Given the description of an element on the screen output the (x, y) to click on. 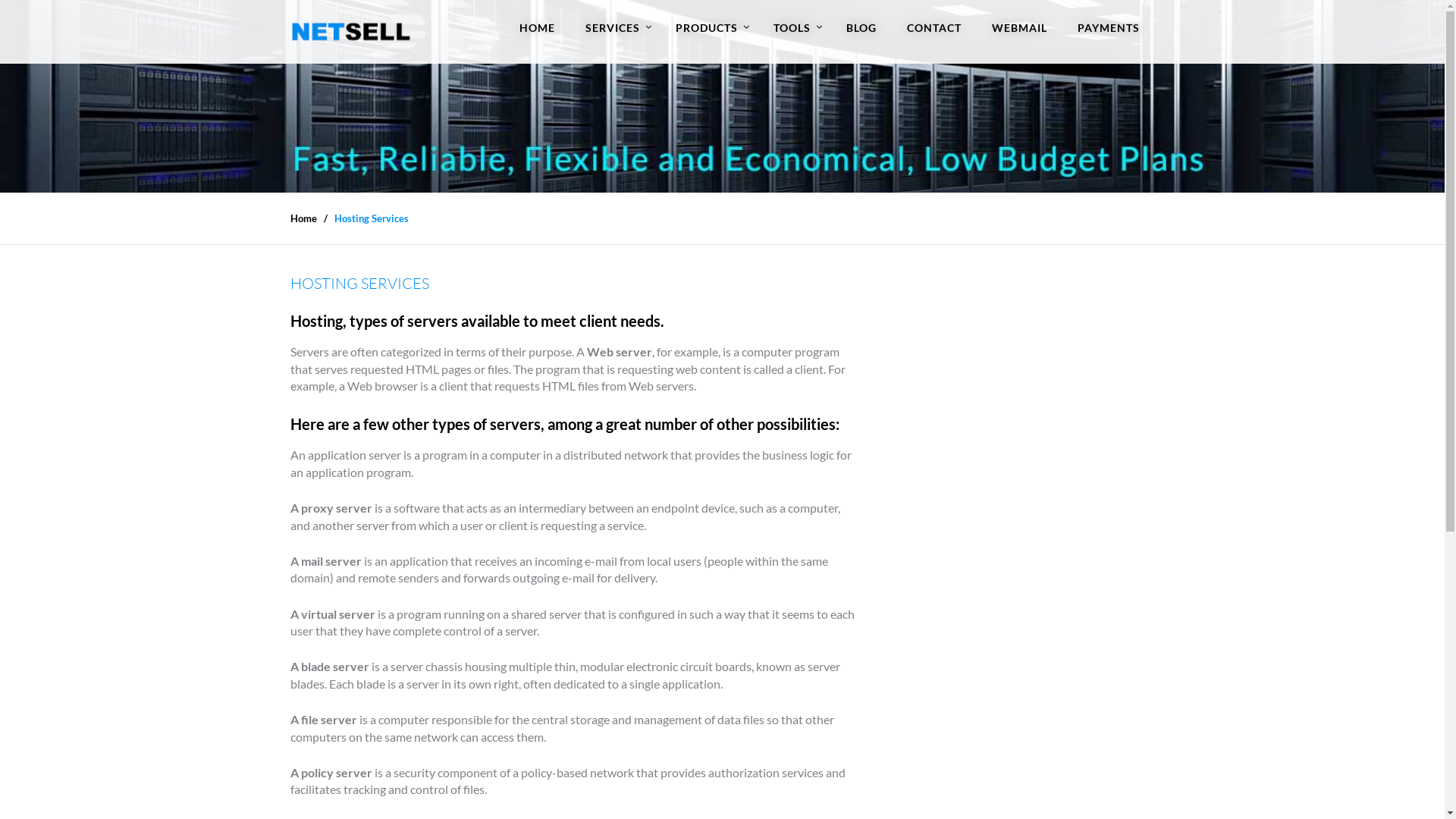
Home Element type: text (302, 218)
HOME Element type: text (536, 28)
PAYMENTS Element type: text (1107, 28)
SERVICES Element type: text (615, 28)
PRODUCTS Element type: text (708, 28)
Netsell Website Designs Solutions Element type: hover (350, 31)
WEBMAIL Element type: text (1019, 28)
BLOG Element type: text (861, 28)
CONTACT Element type: text (933, 28)
TOOLS Element type: text (794, 28)
